Given the description of an element on the screen output the (x, y) to click on. 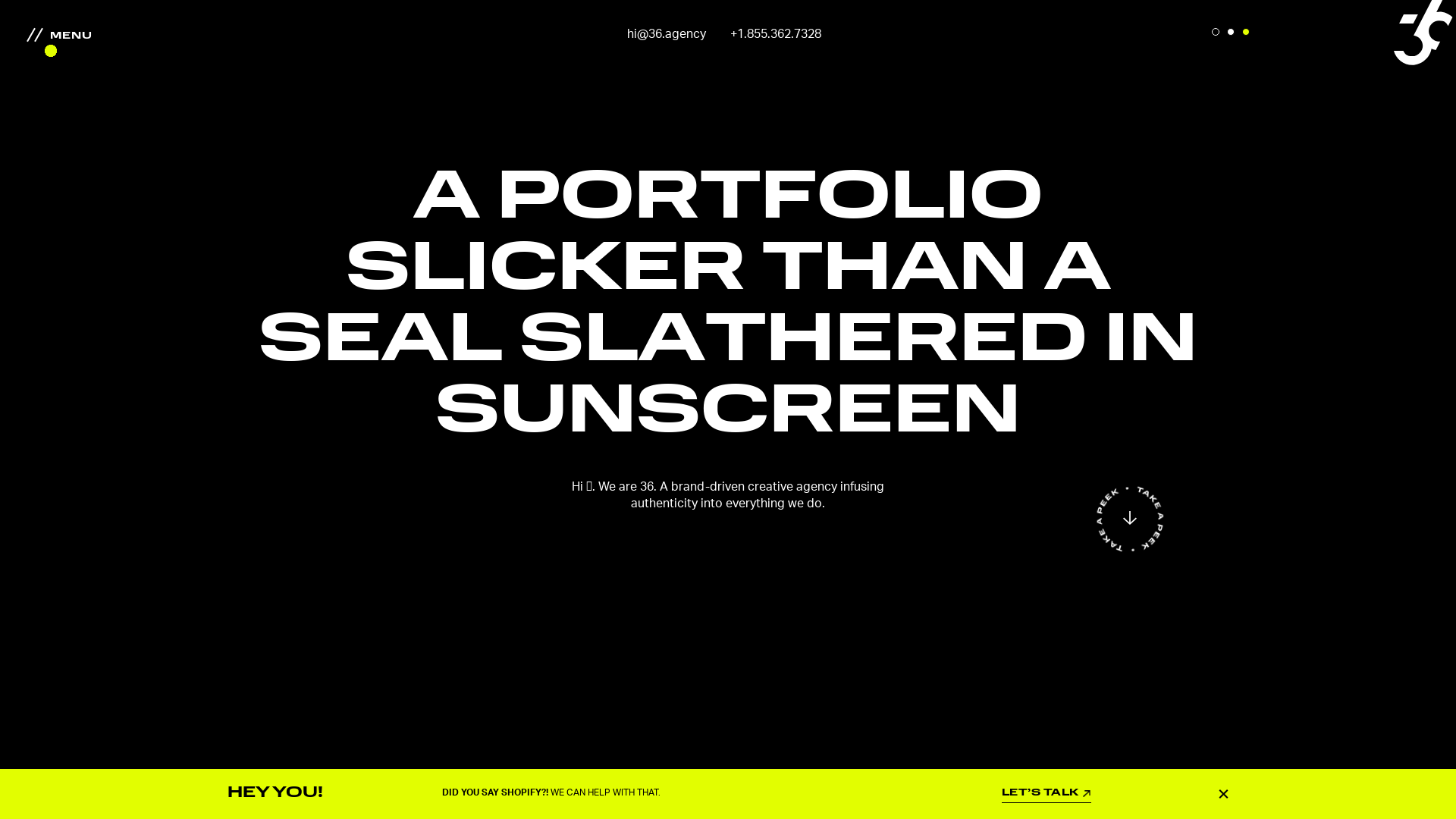
hi@36.agency Element type: text (666, 33)
MENU Element type: text (64, 36)
Close Element type: text (1223, 793)
+1.855.362.7328 Element type: text (775, 33)
